Given the description of an element on the screen output the (x, y) to click on. 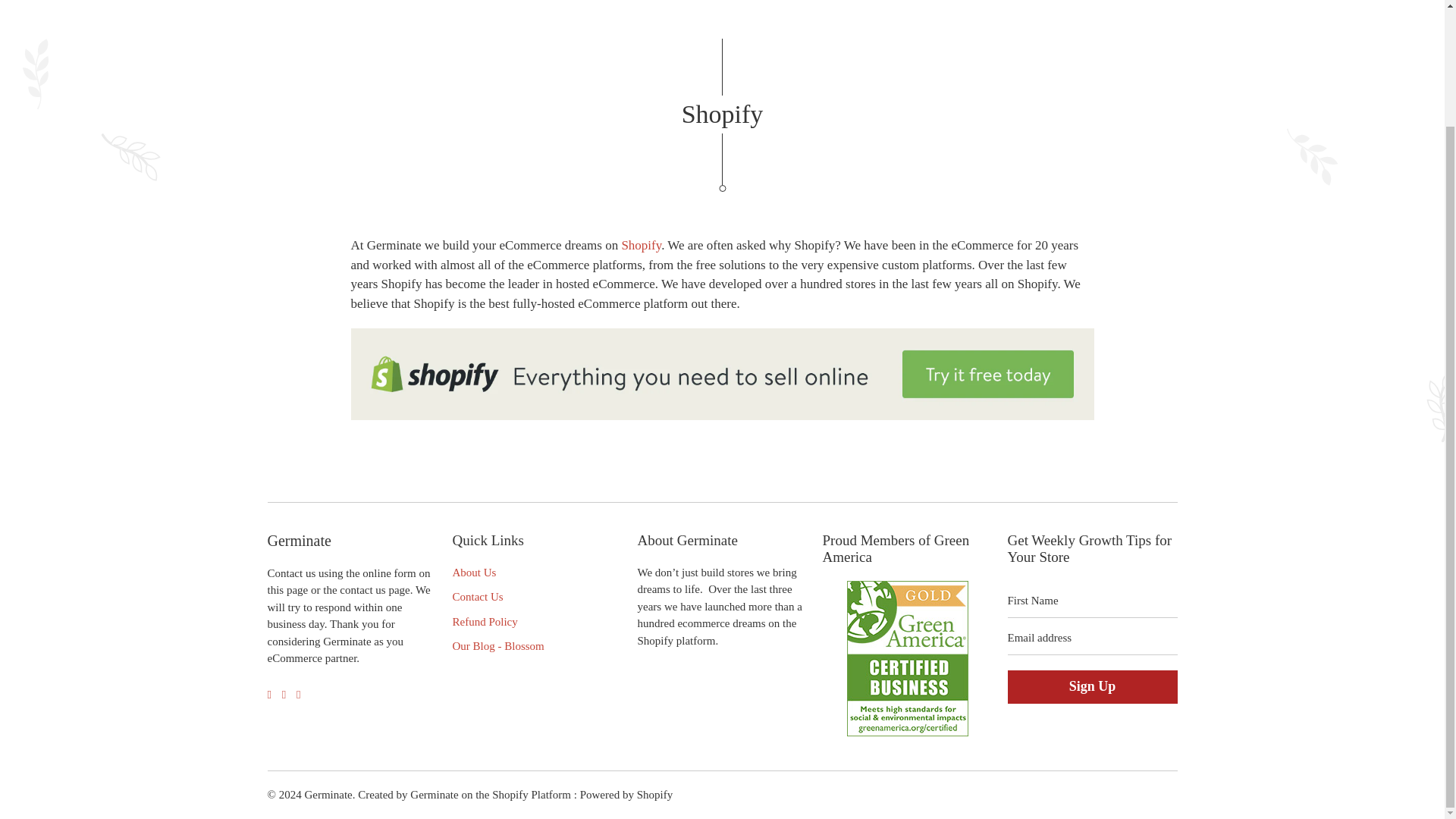
Shopify (641, 245)
Sign Up (1091, 686)
Shopify Free Trial (721, 415)
Shopify Free Trial (641, 245)
About Us (473, 572)
